Given the description of an element on the screen output the (x, y) to click on. 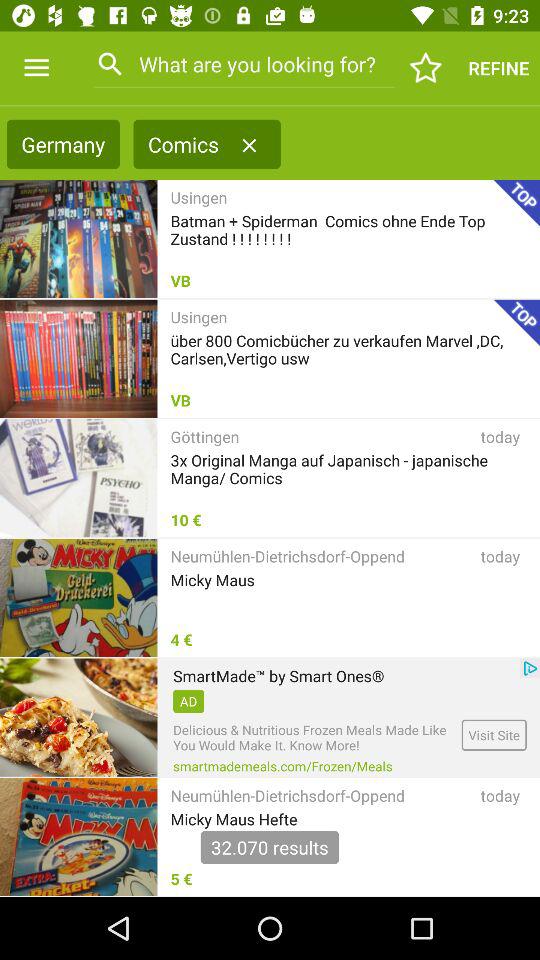
click item below ad icon (313, 737)
